Given the description of an element on the screen output the (x, y) to click on. 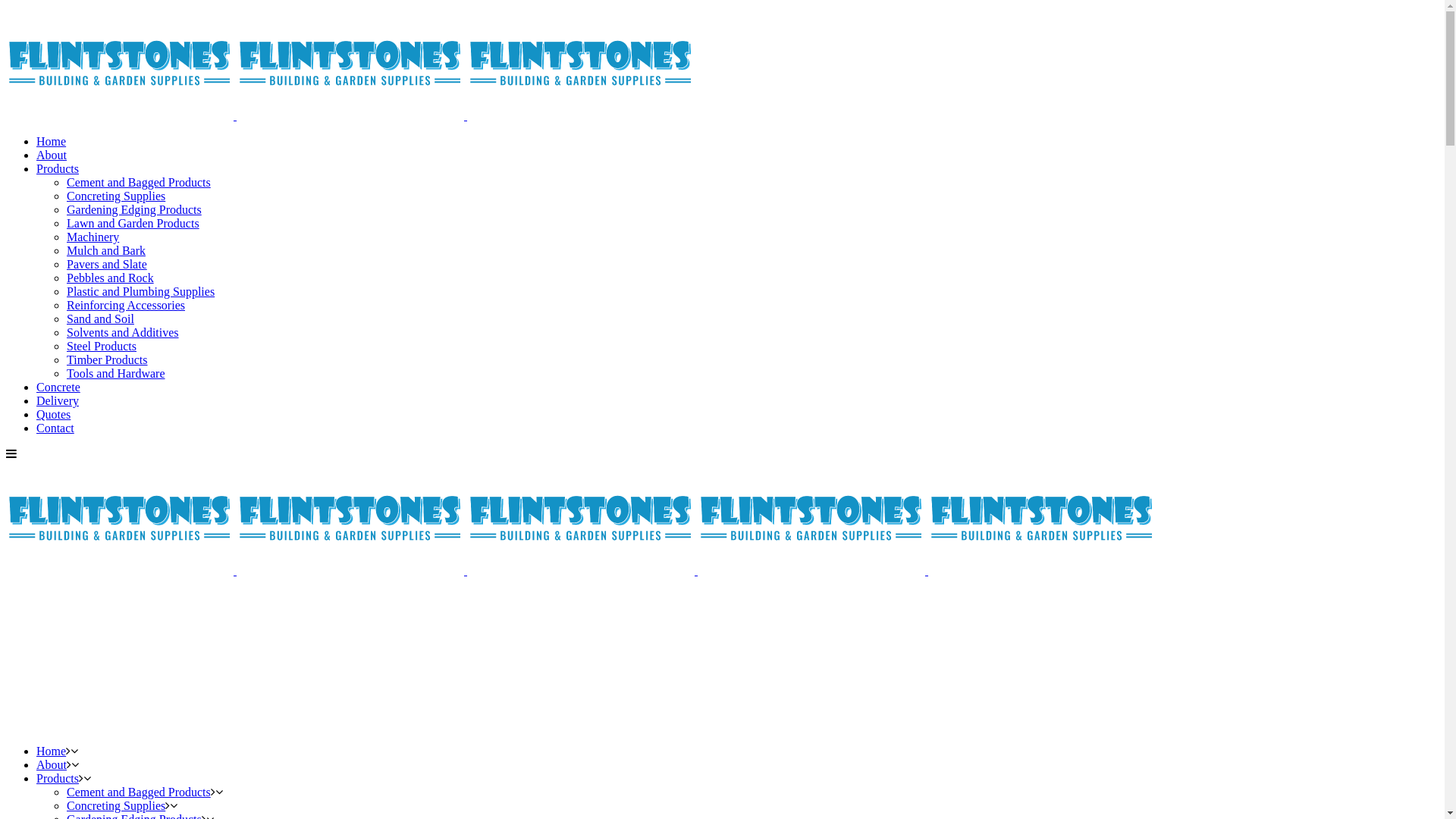
Home Element type: text (50, 140)
Cement and Bagged Products Element type: text (138, 181)
Pavers and Slate Element type: text (106, 263)
Concreting Supplies Element type: text (115, 195)
Pebbles and Rock Element type: text (109, 277)
Timber Products Element type: text (106, 359)
Steel Products Element type: text (101, 345)
Concreting Supplies Element type: text (115, 805)
Mulch and Bark Element type: text (105, 250)
Products Element type: text (57, 168)
Delivery Element type: text (57, 400)
Lawn and Garden Products Element type: text (132, 222)
About Element type: text (51, 154)
Machinery Element type: text (92, 236)
Cement and Bagged Products Element type: text (138, 791)
About Element type: text (51, 764)
Gardening Edging Products Element type: text (133, 209)
Contact Element type: text (55, 427)
Solvents and Additives Element type: text (122, 332)
Plastic and Plumbing Supplies Element type: text (140, 291)
Reinforcing Accessories Element type: text (125, 304)
Products Element type: text (57, 777)
Sand and Soil Element type: text (100, 318)
Quotes Element type: text (53, 413)
Tools and Hardware Element type: text (115, 373)
Concrete Element type: text (58, 386)
Home Element type: text (50, 750)
